Given the description of an element on the screen output the (x, y) to click on. 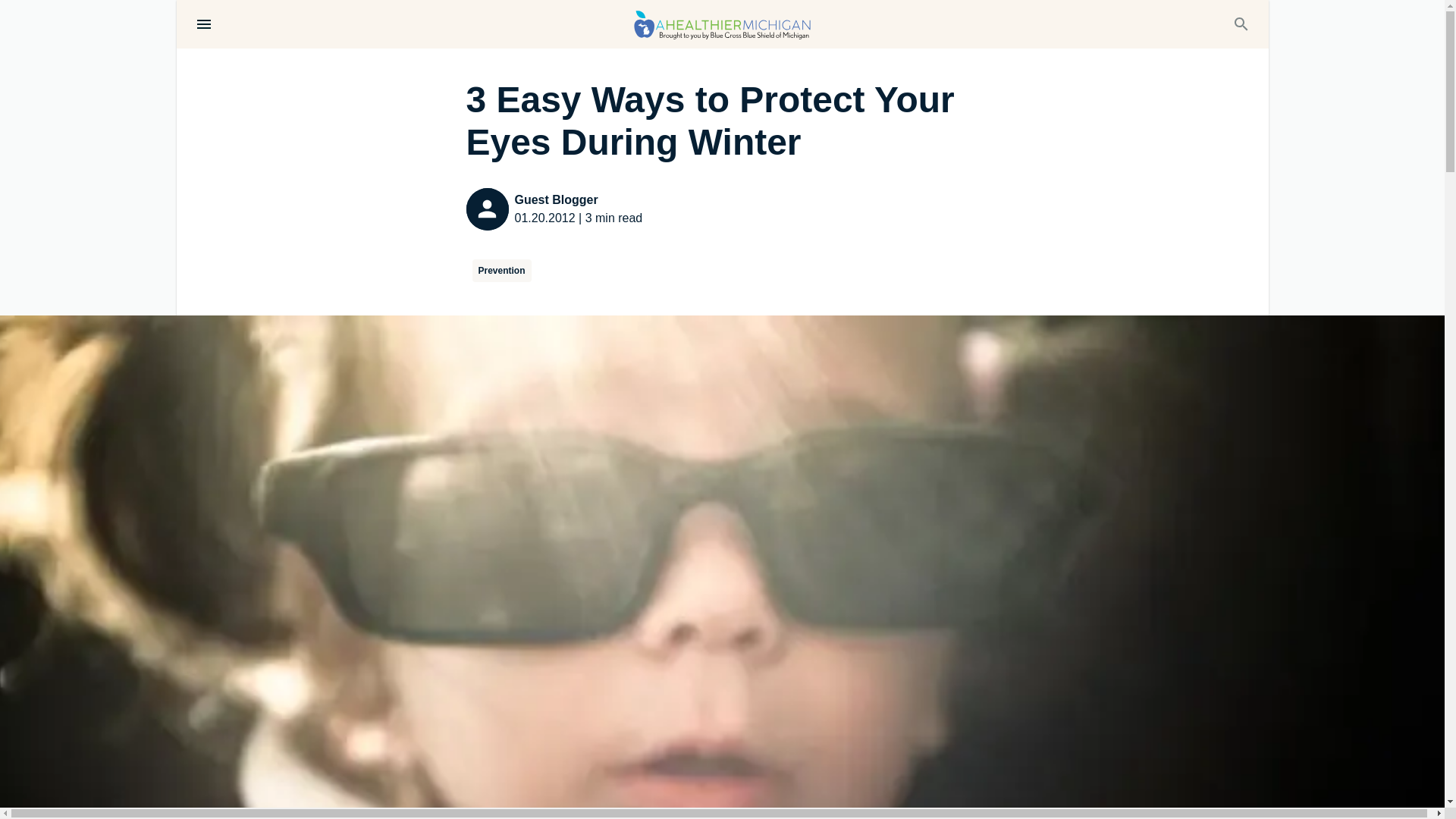
Guest Blogger (577, 199)
Prevention (501, 270)
